Given the description of an element on the screen output the (x, y) to click on. 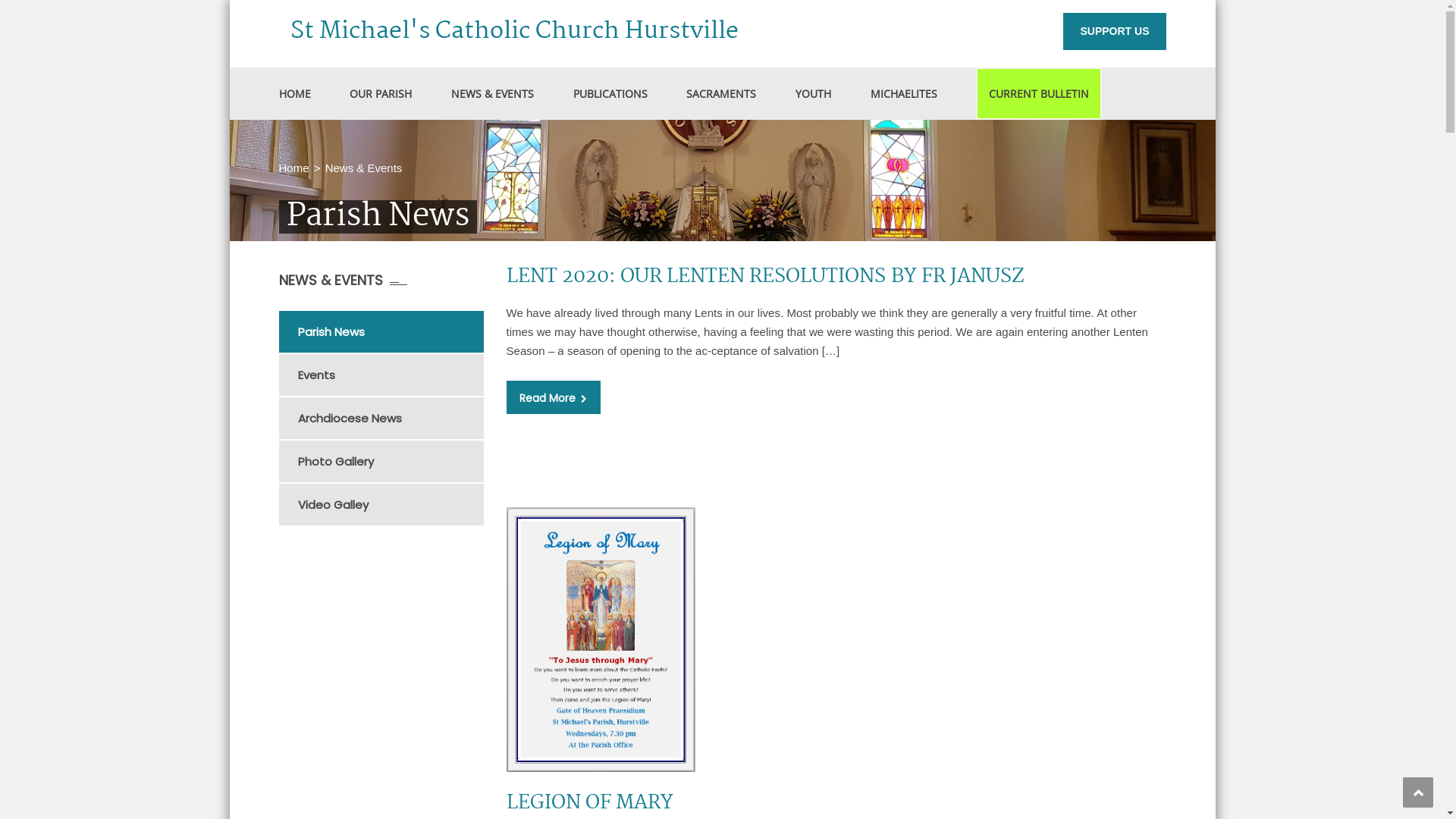
LENT 2020: OUR LENTEN RESOLUTIONS BY FR JANUSZ Element type: text (765, 276)
Video Galley Element type: text (390, 504)
HOME Element type: text (294, 93)
St Michael's Catholic Church Hurstville Element type: text (513, 31)
Events Element type: text (390, 374)
PUBLICATIONS Element type: text (610, 93)
Archdiocese News Element type: text (390, 418)
SUPPORT US Element type: text (1114, 31)
MICHAELITES Element type: text (903, 93)
NEWS & EVENTS Element type: text (492, 93)
YOUTH Element type: text (813, 93)
Read More Element type: text (553, 397)
SACRAMENTS Element type: text (721, 93)
OUR PARISH Element type: text (380, 93)
Parish News Element type: text (390, 331)
CURRENT BULLETIN Element type: text (1038, 93)
Home Element type: text (294, 167)
Photo Gallery Element type: text (390, 461)
Search Element type: text (1144, 160)
